Given the description of an element on the screen output the (x, y) to click on. 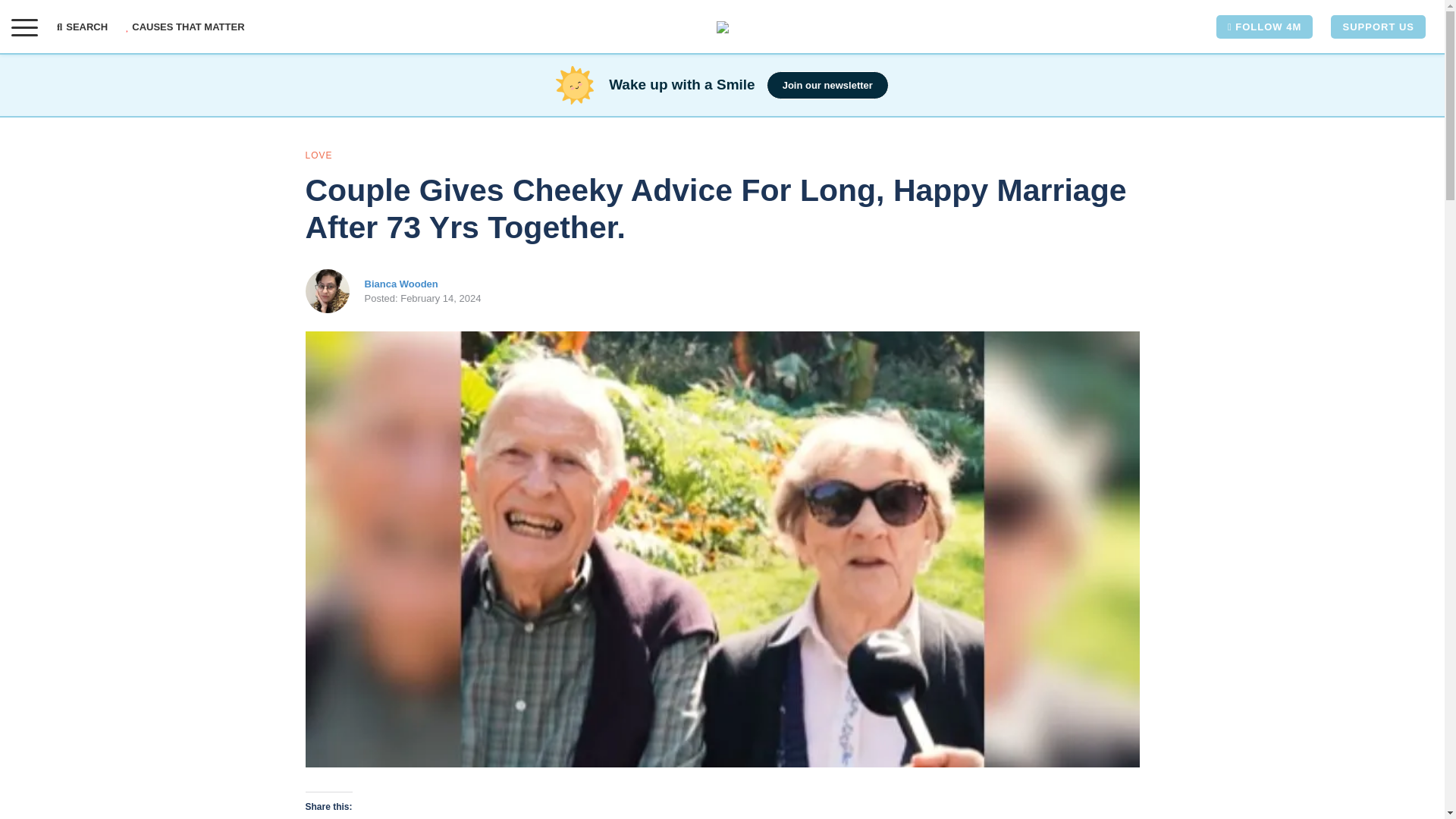
Bianca Wooden (401, 283)
LOVE (317, 154)
SUPPORT US (1377, 26)
CAUSES THAT MATTER (184, 26)
Join our newsletter (827, 85)
FOLLOW 4M (1264, 26)
SEARCH (86, 26)
